Given the description of an element on the screen output the (x, y) to click on. 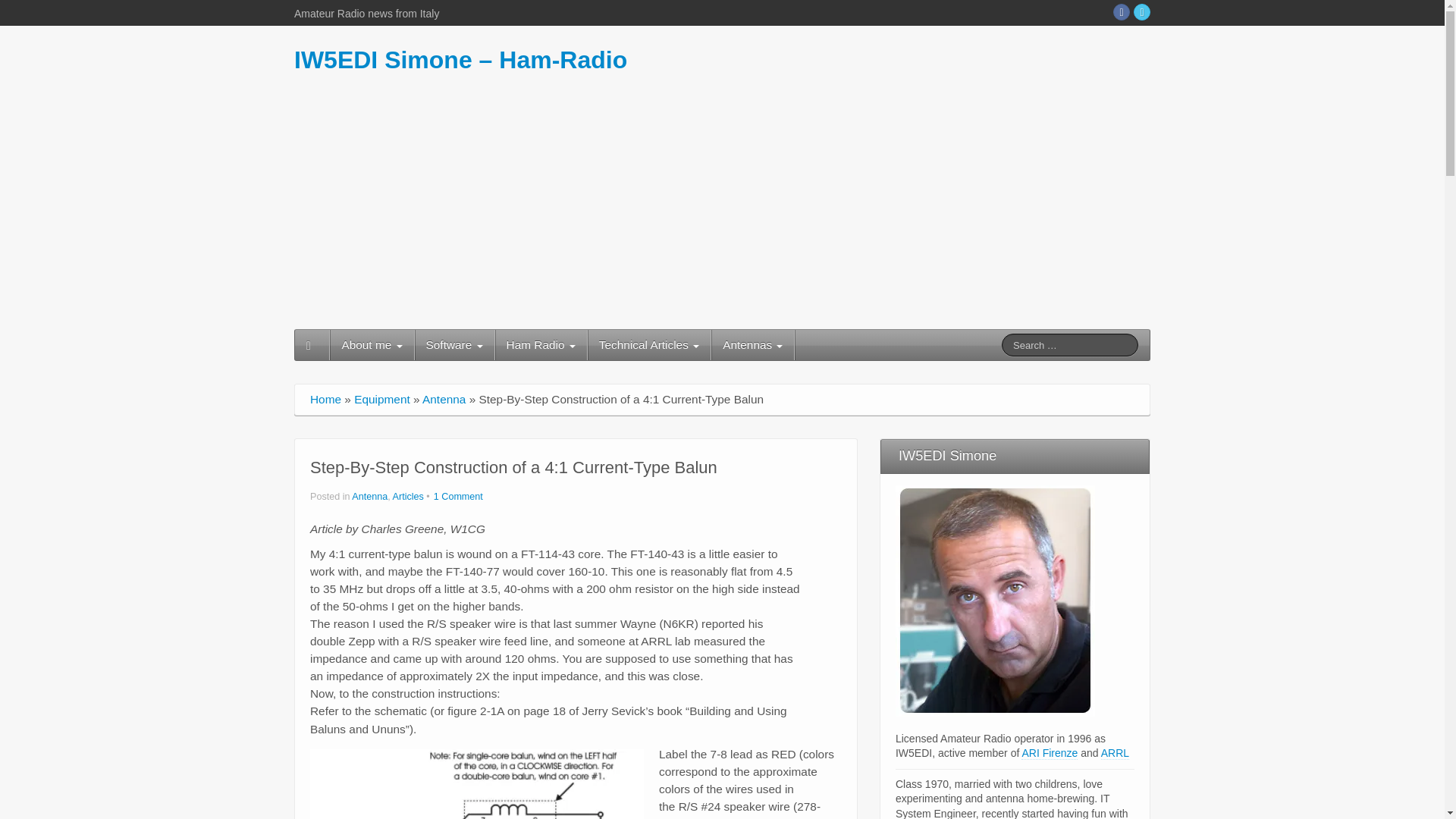
IW5EDI Simone - Ham-Radio Twitter (1142, 12)
About me (371, 345)
Ham Radio (540, 345)
Technical Articles (649, 345)
IW5EDI Simone - Ham-Radio Facebook (1121, 12)
Software (454, 345)
